Given the description of an element on the screen output the (x, y) to click on. 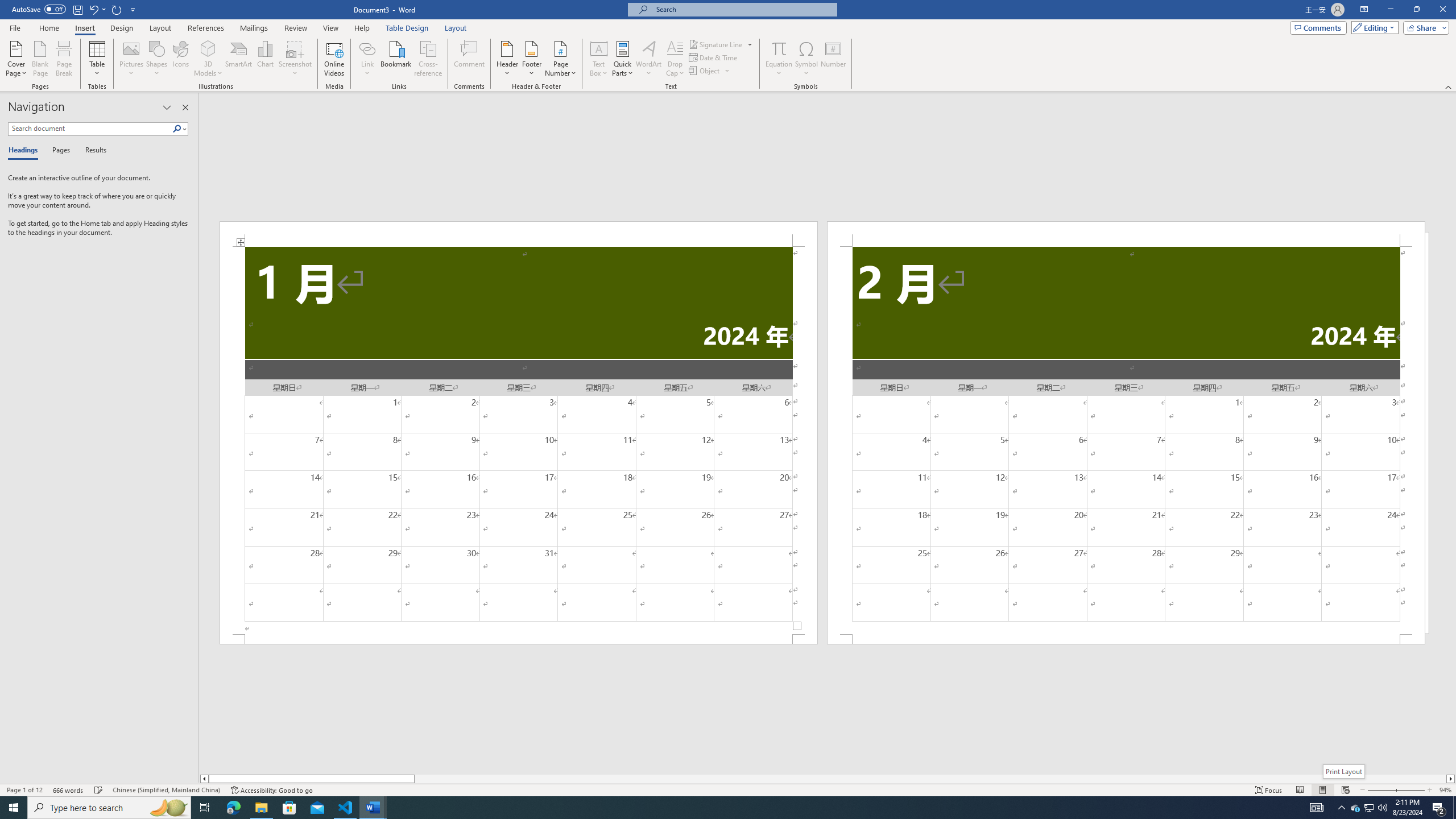
Cross-reference... (428, 58)
Text Box (598, 58)
Page Number (560, 58)
Chart... (265, 58)
Table Design (407, 28)
Headings (25, 150)
Symbol (806, 58)
Footer -Section 1- (518, 638)
Object... (709, 69)
Table (97, 58)
Results (91, 150)
